Given the description of an element on the screen output the (x, y) to click on. 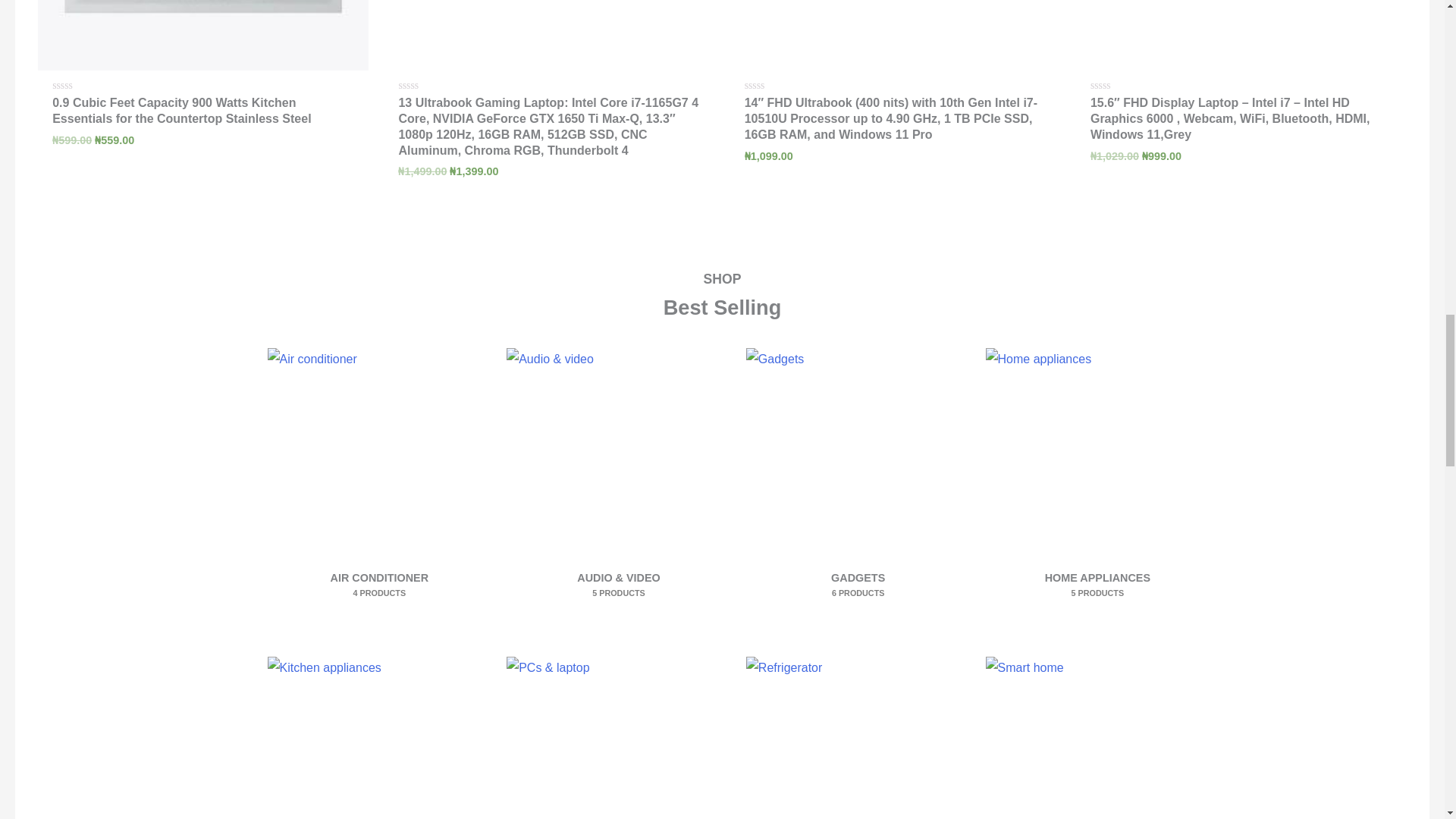
13 (379, 737)
3 (549, 35)
7 (1240, 35)
5 (894, 35)
1 (202, 35)
